Given the description of an element on the screen output the (x, y) to click on. 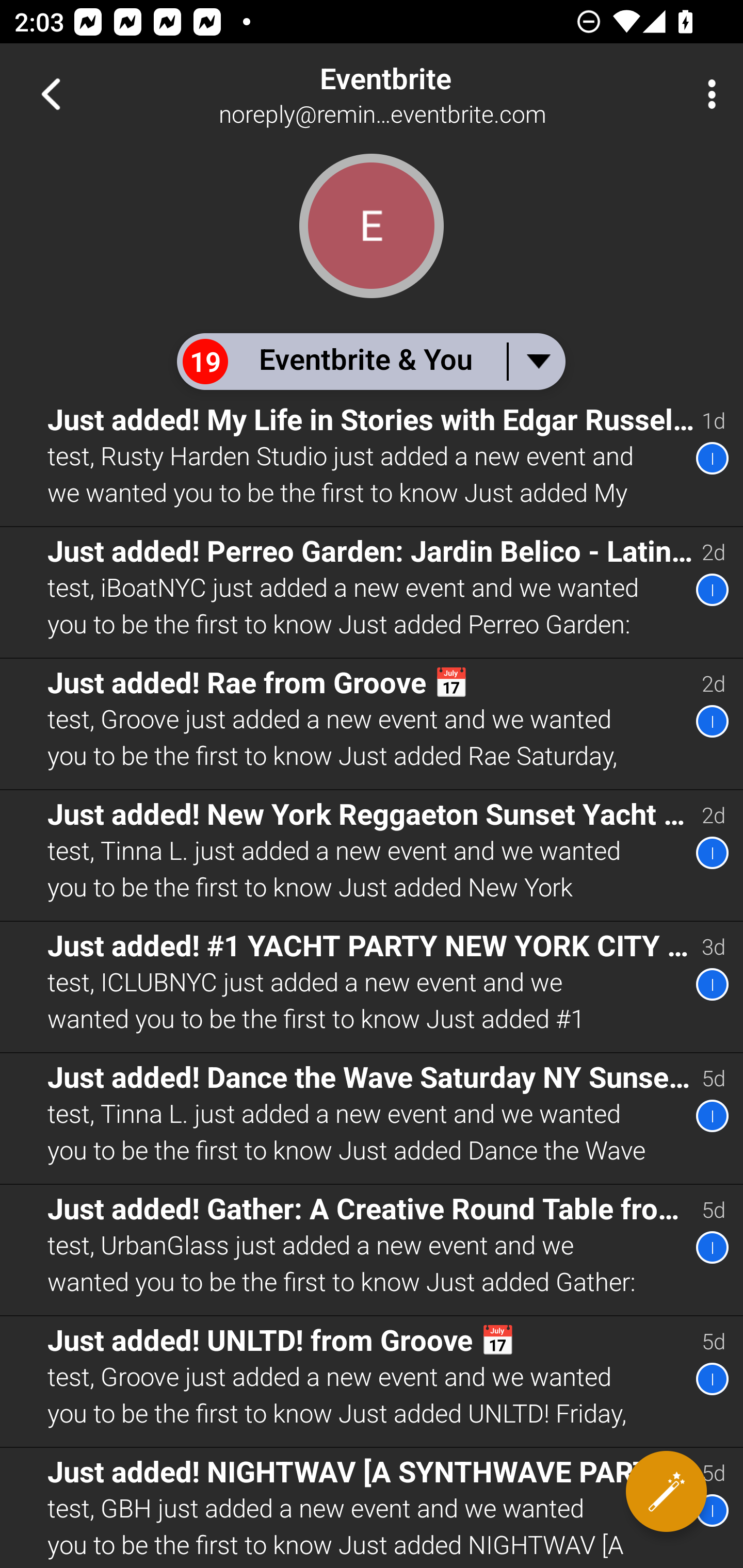
Navigate up (50, 93)
Eventbrite noreply@reminder.eventbrite.com (436, 93)
More Options (706, 93)
19 Eventbrite & You (370, 361)
